Given the description of an element on the screen output the (x, y) to click on. 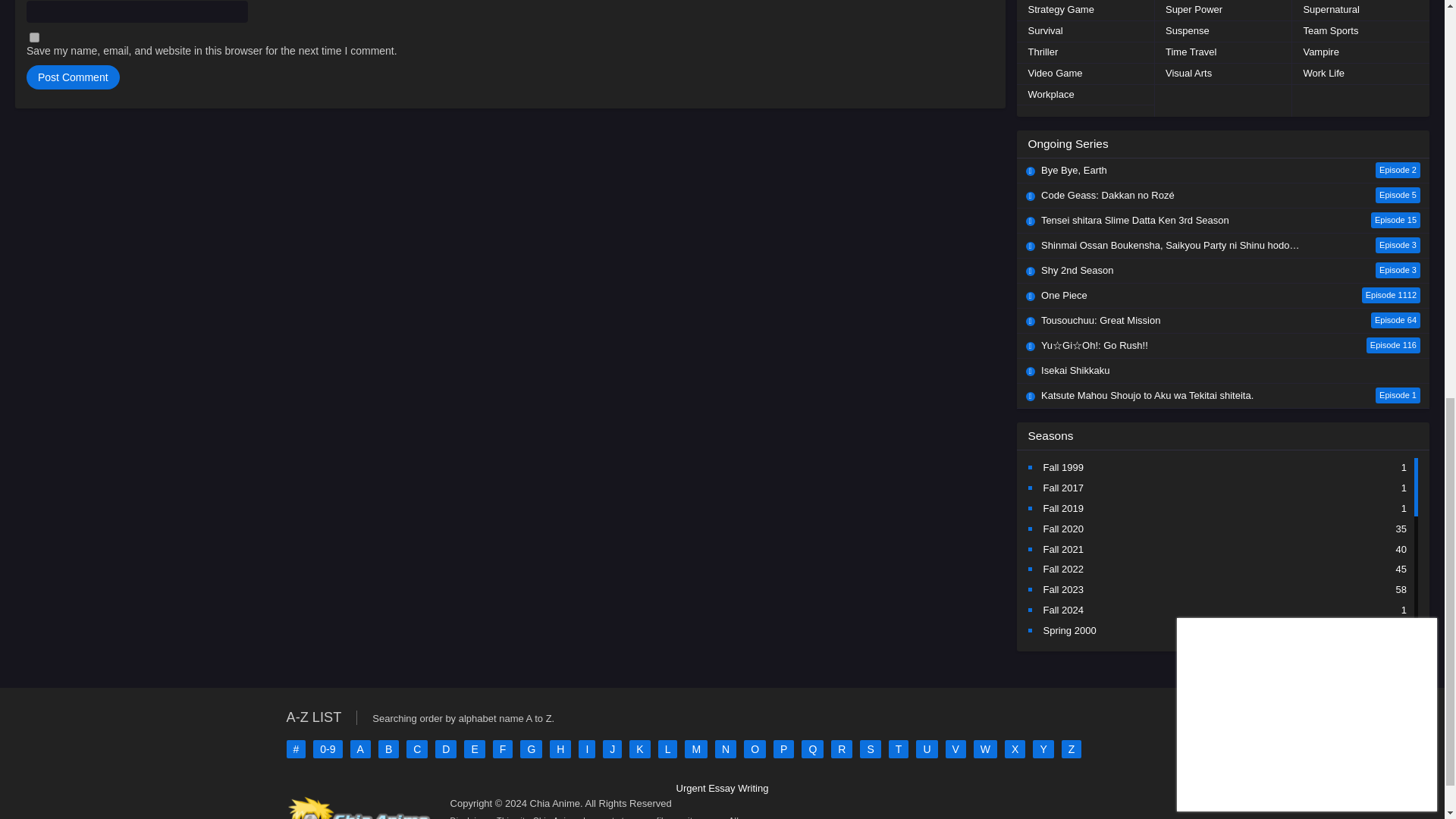
Post Comment (72, 77)
yes (34, 37)
